Given the description of an element on the screen output the (x, y) to click on. 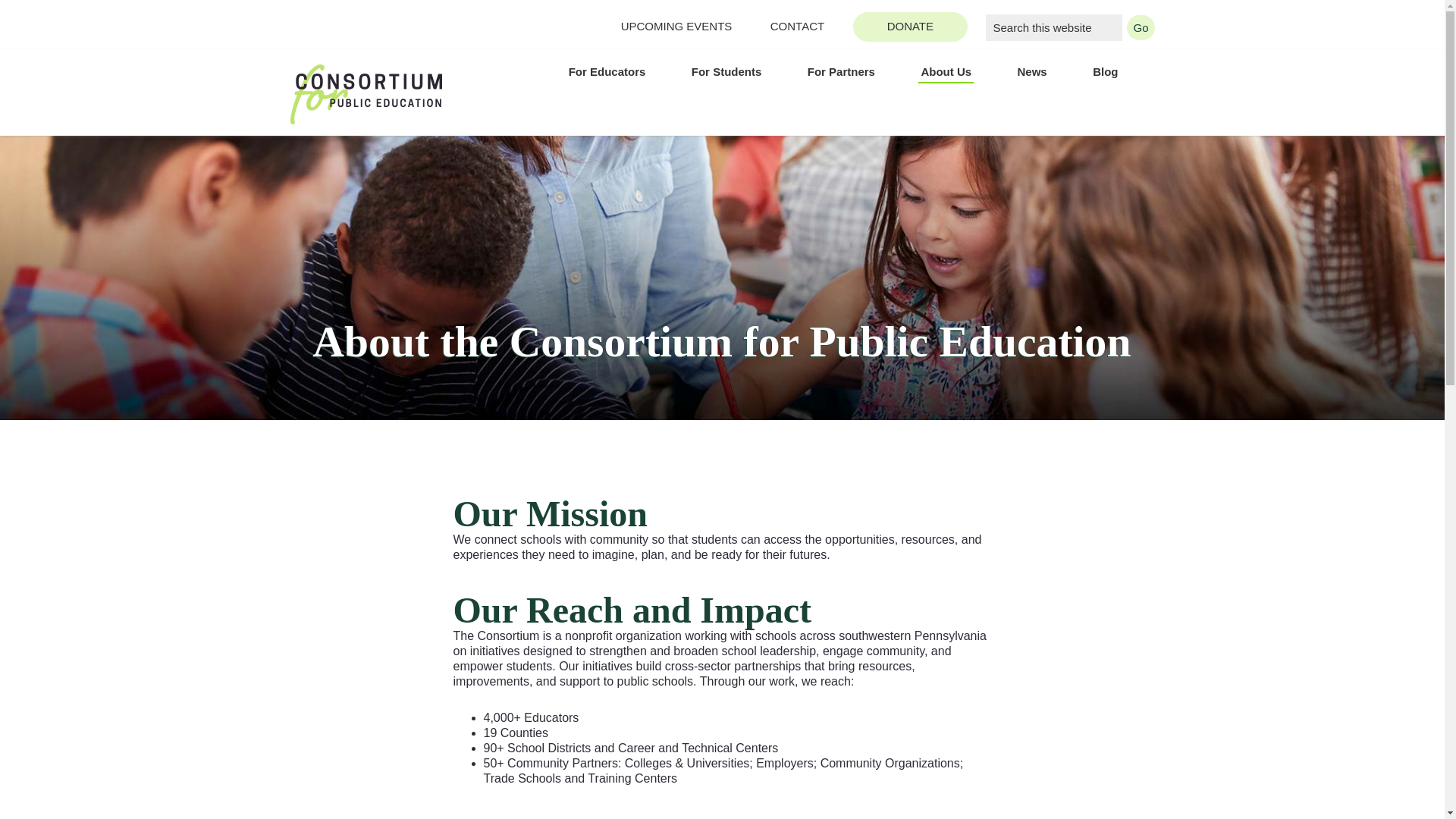
CONTACT (797, 27)
Go (1140, 27)
For Partners (840, 71)
Go (1140, 27)
UPCOMING EVENTS (676, 27)
Blog (1104, 71)
For Students (727, 71)
DONATE (910, 27)
Go (1140, 27)
